Given the description of an element on the screen output the (x, y) to click on. 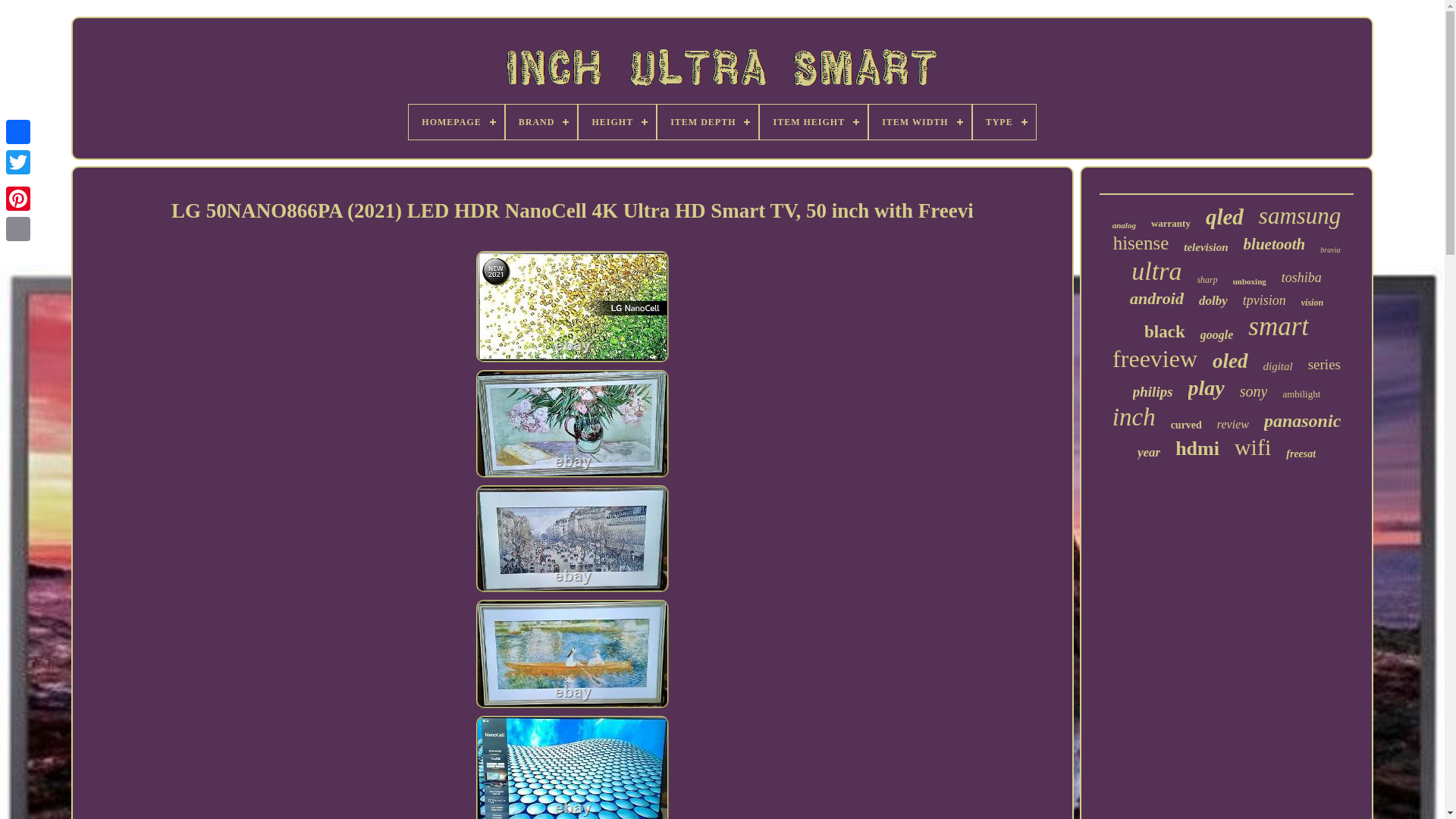
HEIGHT (617, 121)
BRAND (541, 121)
Facebook (17, 132)
HOMEPAGE (456, 121)
Twitter (17, 162)
